Given the description of an element on the screen output the (x, y) to click on. 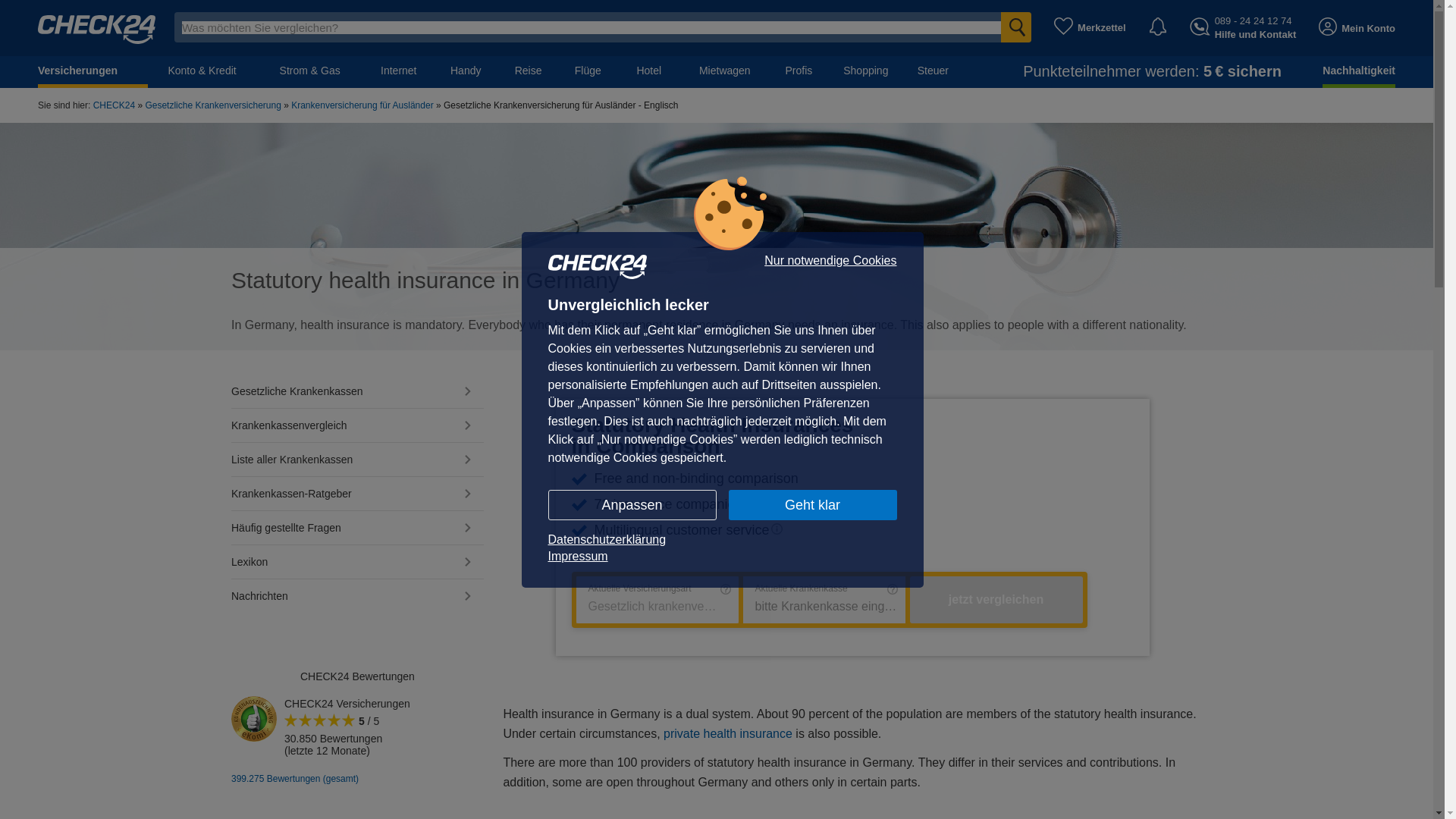
Anpassen (631, 504)
Impressum (721, 555)
Versicherungen (92, 71)
Nur notwendige Cookies (830, 260)
Geht klar (812, 504)
Mein Konto (1356, 27)
